Given the description of an element on the screen output the (x, y) to click on. 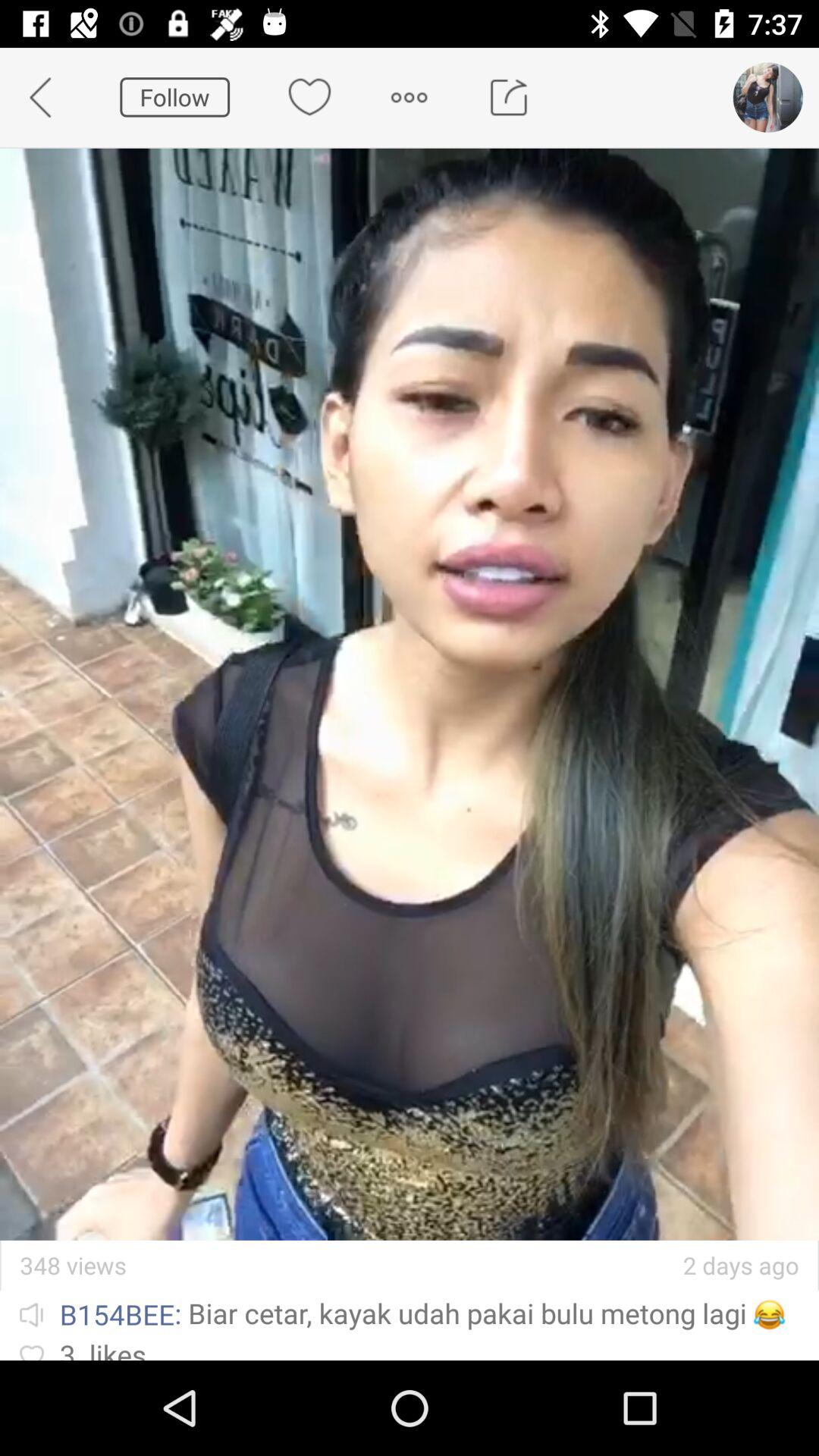
turn on the item at the center (409, 694)
